Given the description of an element on the screen output the (x, y) to click on. 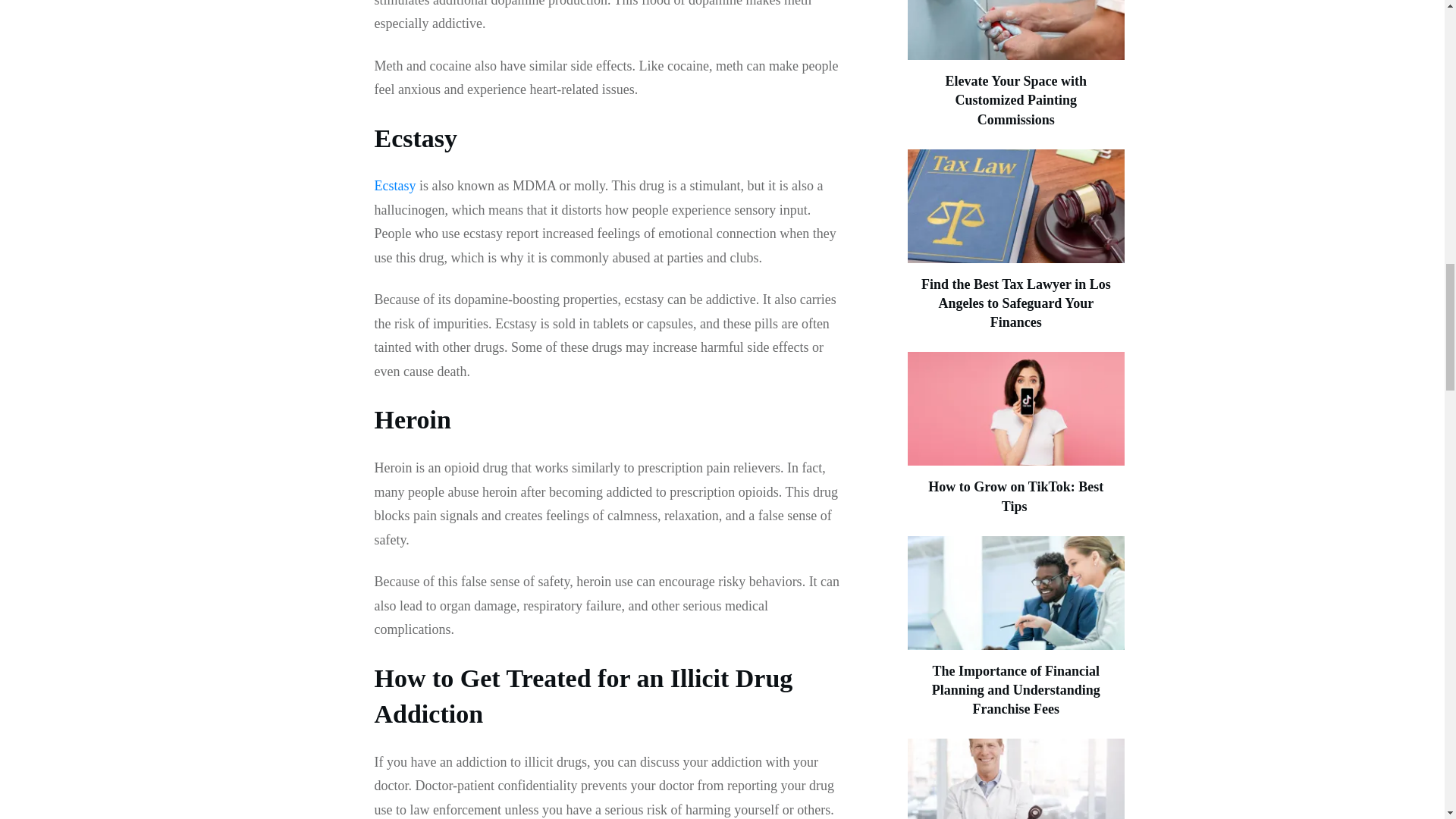
Ecstasy (395, 185)
